Given the description of an element on the screen output the (x, y) to click on. 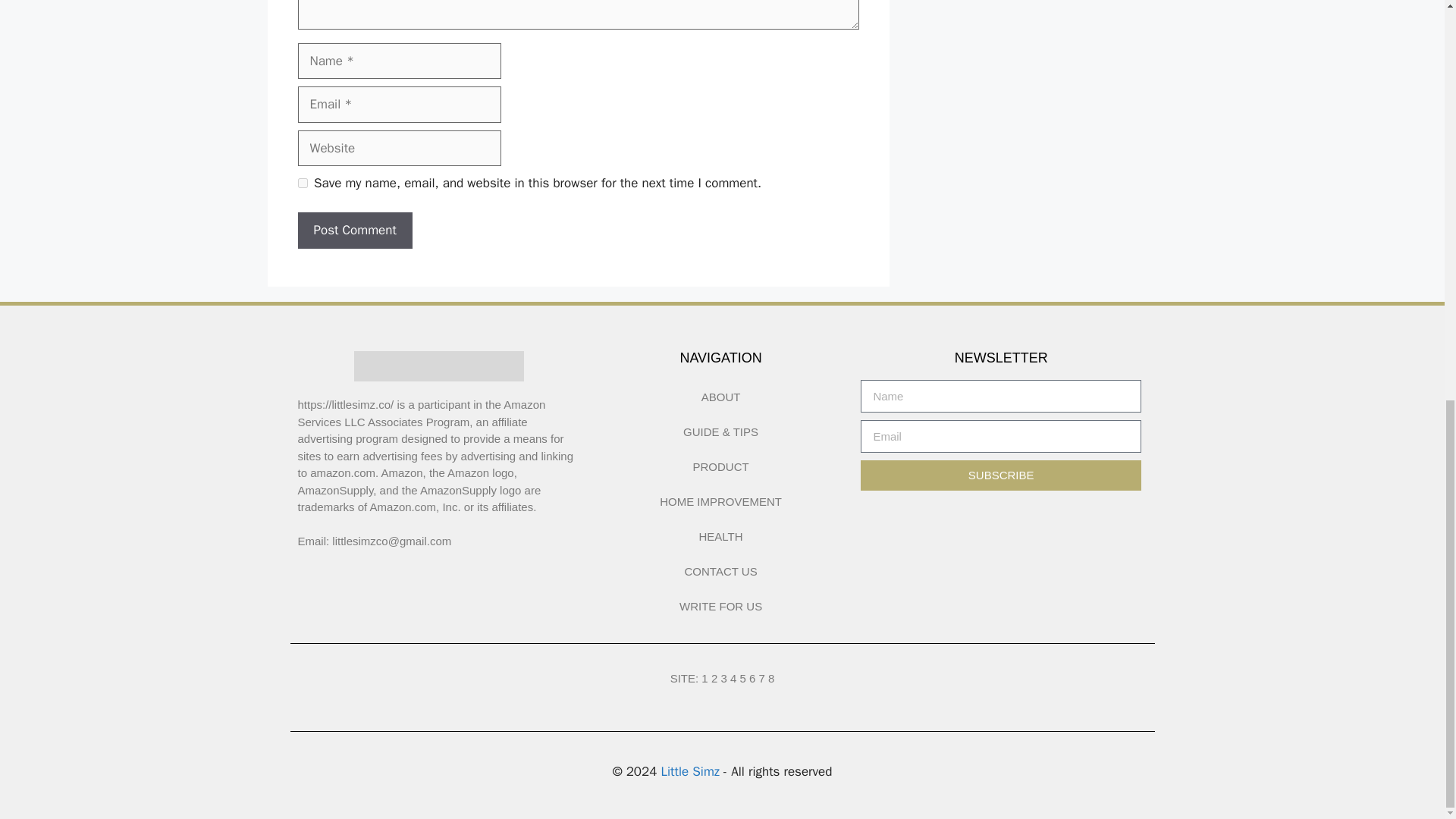
Post Comment (354, 230)
Scroll back to top (1406, 756)
yes (302, 183)
